Given the description of an element on the screen output the (x, y) to click on. 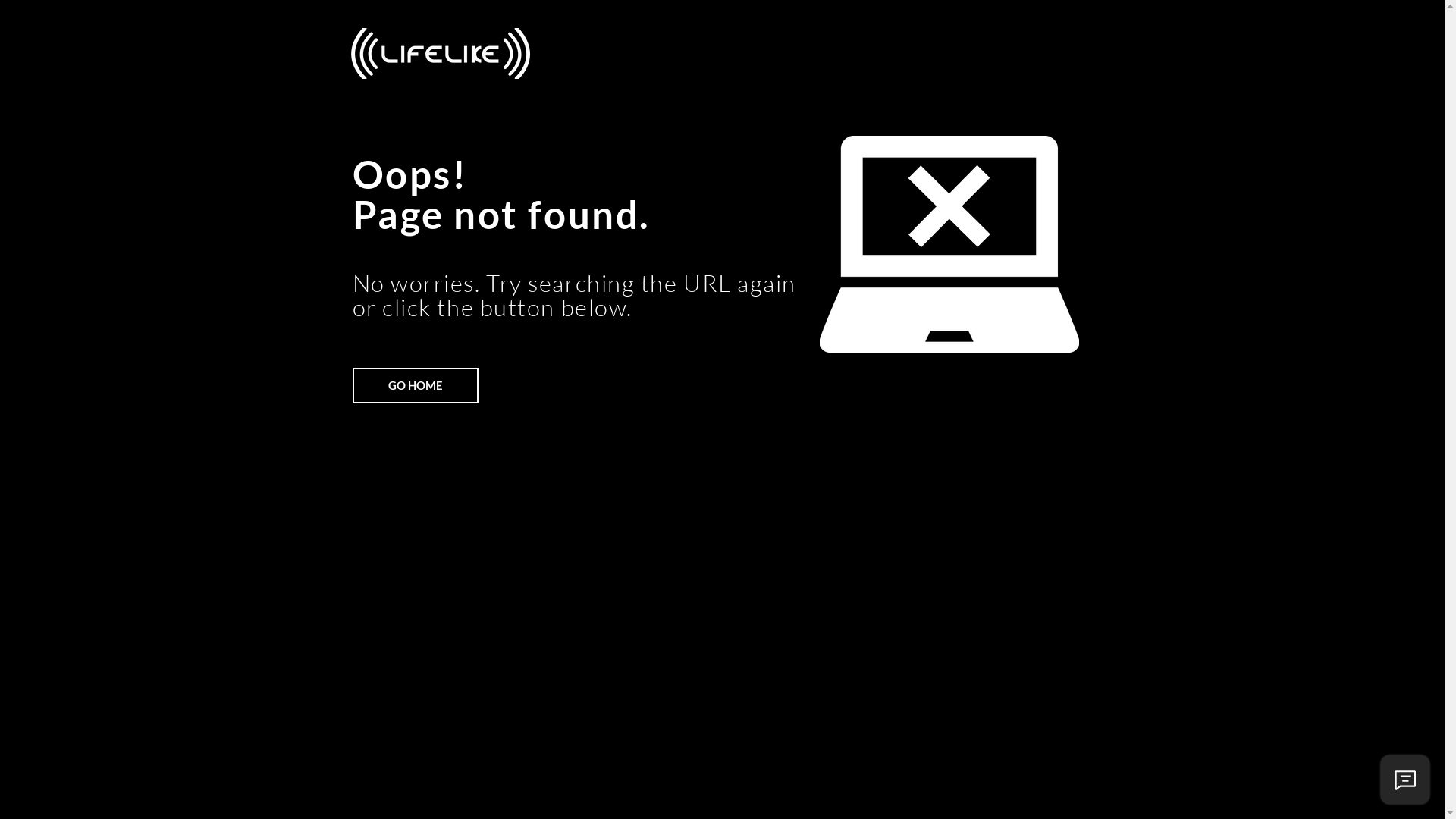
GO HOME Element type: text (414, 385)
